Given the description of an element on the screen output the (x, y) to click on. 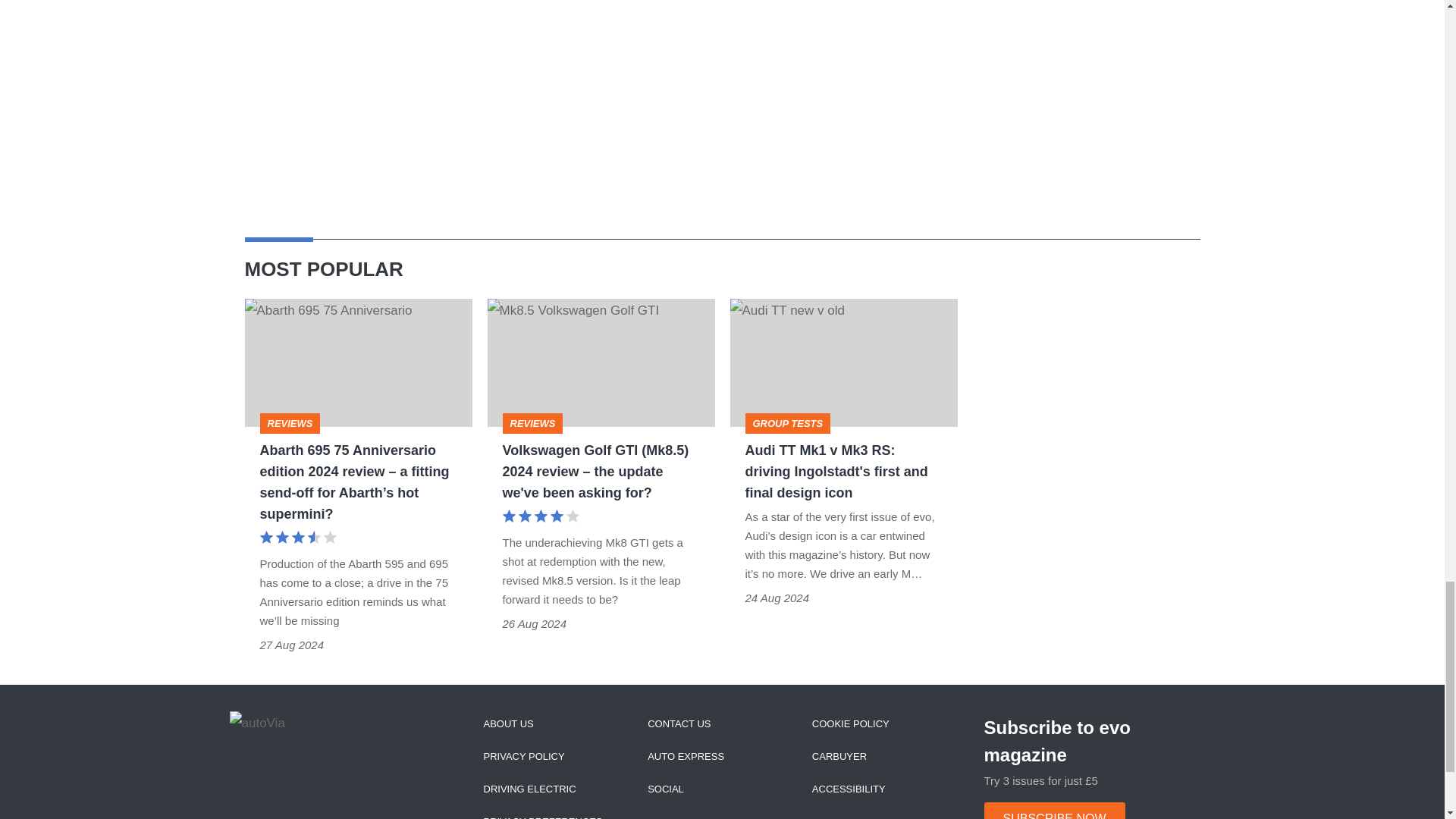
Subscribe now (1054, 810)
4 Stars (540, 516)
3.5 Stars (297, 538)
